Given the description of an element on the screen output the (x, y) to click on. 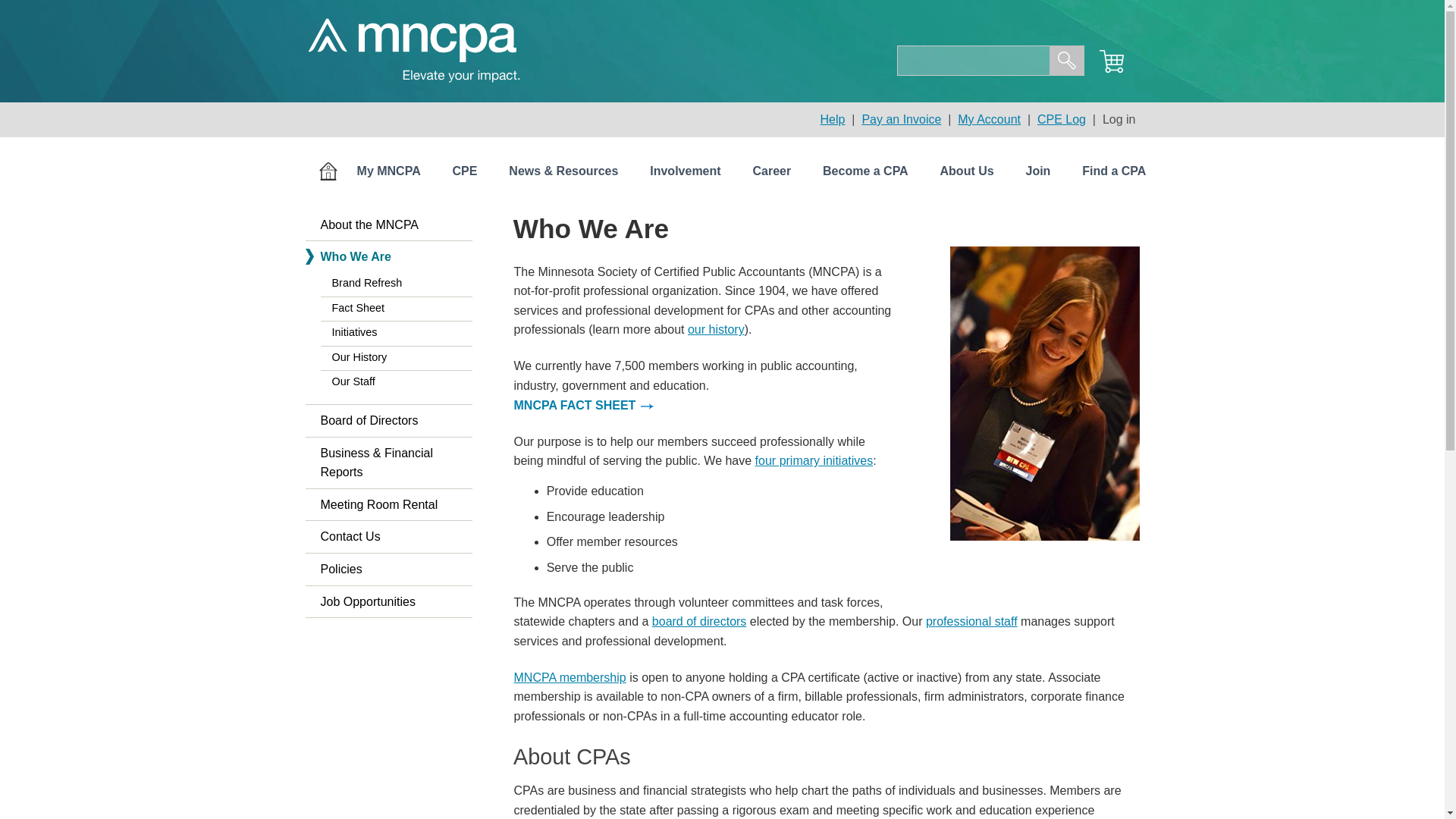
our history (715, 328)
Log in (1118, 119)
MNCPA membership (569, 676)
Help (833, 119)
professional staff (971, 621)
My Account (989, 119)
Search (1066, 60)
Pay an Invoice (900, 119)
four primary initiatives (814, 460)
MNCPA fact sheet (584, 404)
Search (1066, 60)
board of directors (699, 621)
CPE Log (1061, 119)
Search (1066, 60)
